Given the description of an element on the screen output the (x, y) to click on. 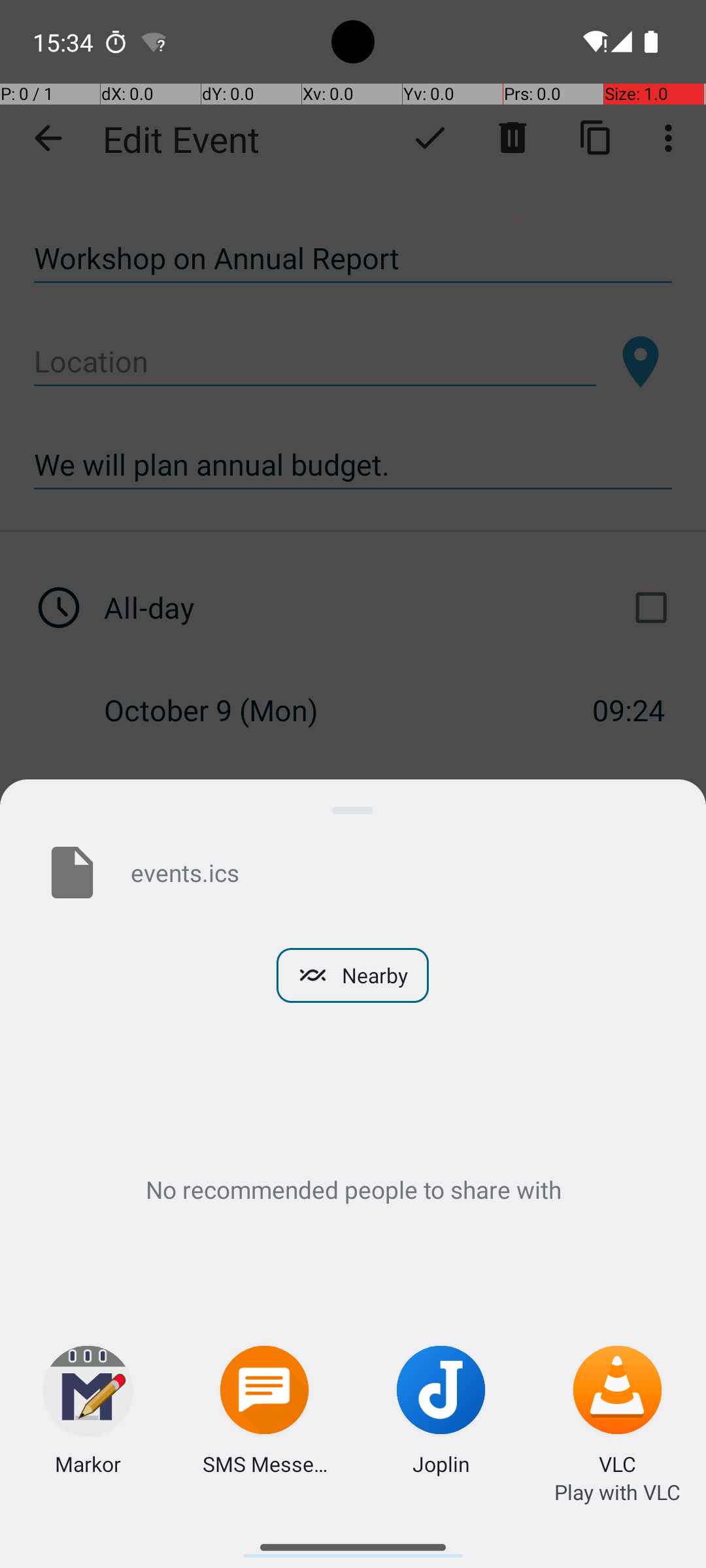
Apps list Element type: android.widget.ImageView (353, 1541)
events.ics Element type: android.widget.TextView (397, 872)
Nearby Element type: android.widget.Button (352, 975)
No recommended people to share with Element type: android.widget.TextView (353, 1189)
SMS Messenger Element type: android.widget.TextView (264, 1463)
Joplin Element type: android.widget.TextView (441, 1463)
Play with VLC Element type: android.widget.TextView (617, 1491)
